Given the description of an element on the screen output the (x, y) to click on. 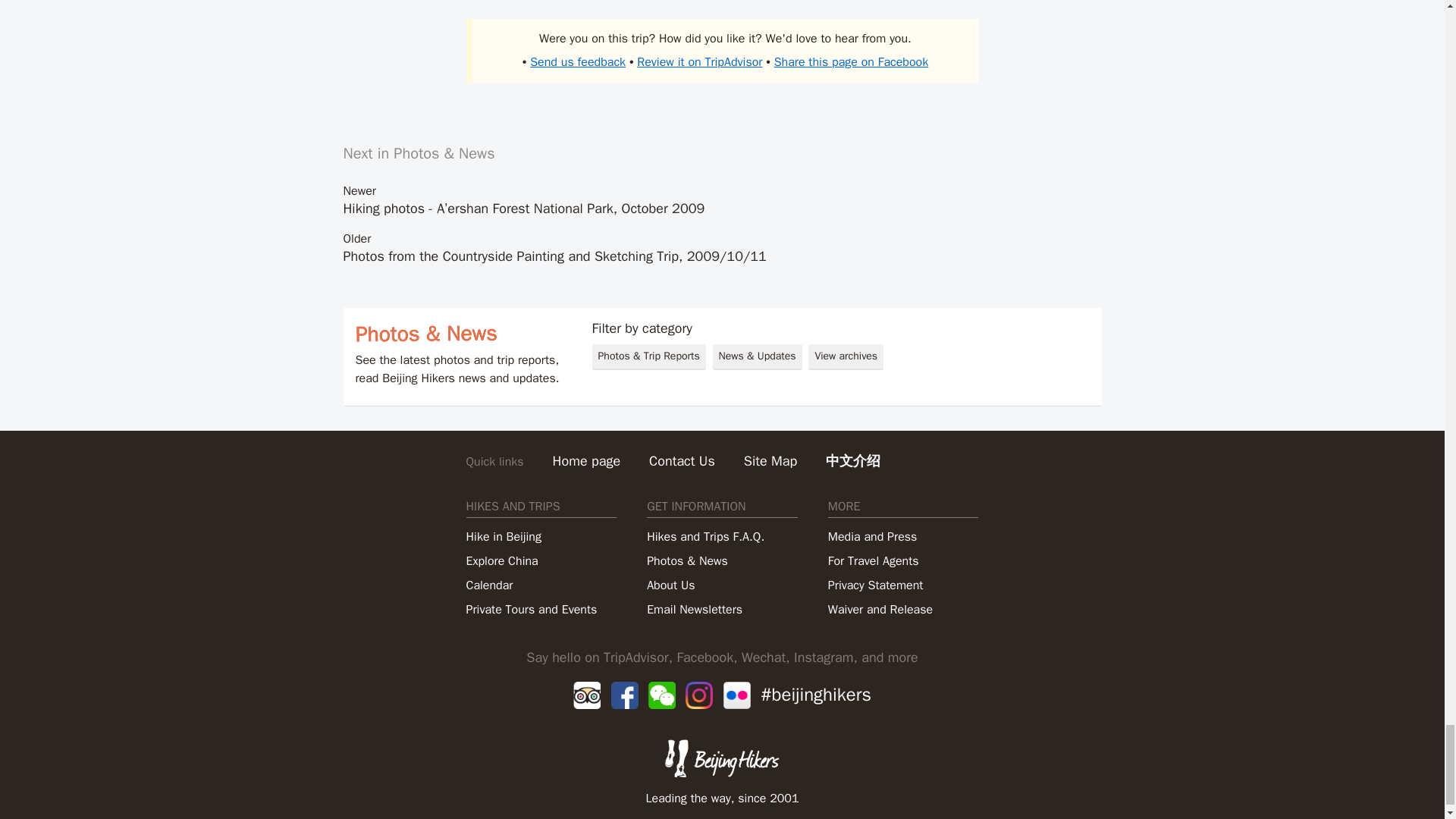
View archives (845, 356)
Calendar (488, 585)
Home page (587, 460)
Private Tours and Events (530, 608)
Send us feedback (577, 61)
Review it on TripAdvisor (699, 61)
Contact Us (681, 460)
Explore China (501, 560)
Site Map (770, 460)
Share this page on Facebook (851, 61)
